Given the description of an element on the screen output the (x, y) to click on. 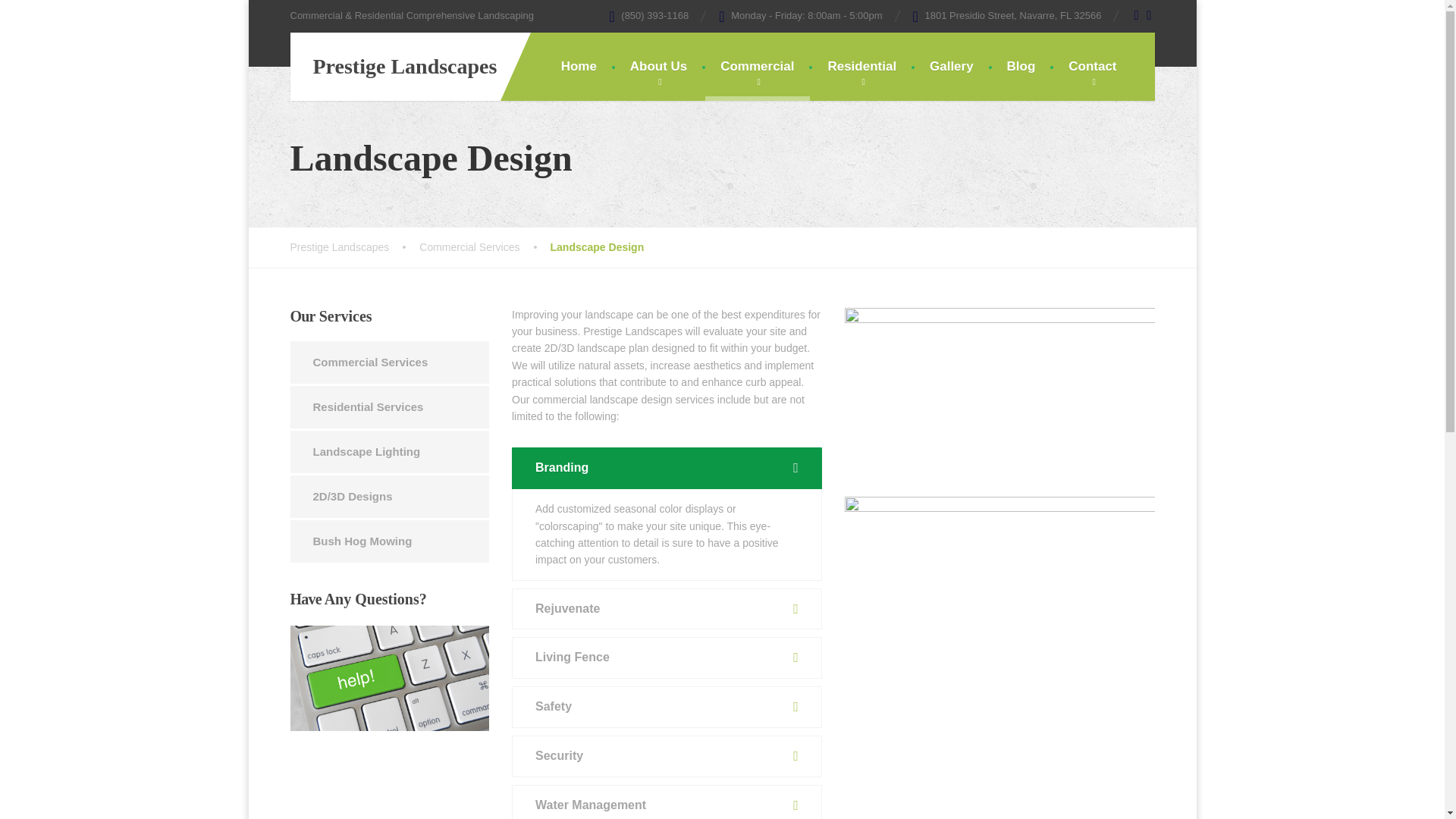
Contact (1091, 66)
Gallery (951, 66)
Home (578, 66)
Prestige Landscapes (392, 66)
Go to Prestige Landscapes. (354, 246)
Safety (667, 707)
About Us (658, 66)
Commercial (756, 66)
Water Management (667, 801)
Monday - Friday: 8:00am - 5:00pm (800, 15)
Living Fence (667, 657)
Branding (667, 467)
Residential (861, 66)
Prestige Landscapes (392, 66)
Commercial Services (484, 246)
